Given the description of an element on the screen output the (x, y) to click on. 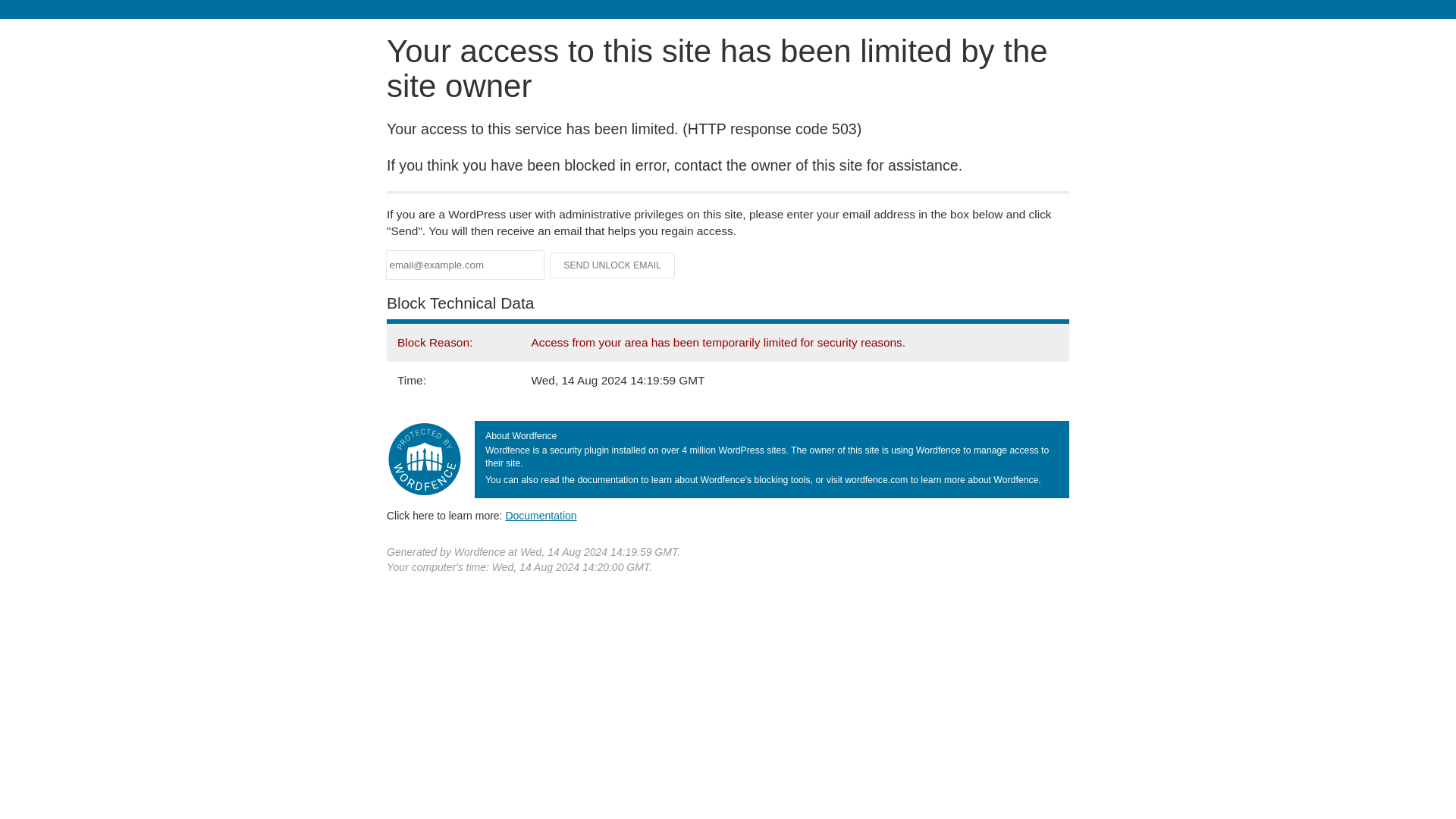
Send Unlock Email (612, 265)
Send Unlock Email (612, 265)
Documentation (540, 515)
